Given the description of an element on the screen output the (x, y) to click on. 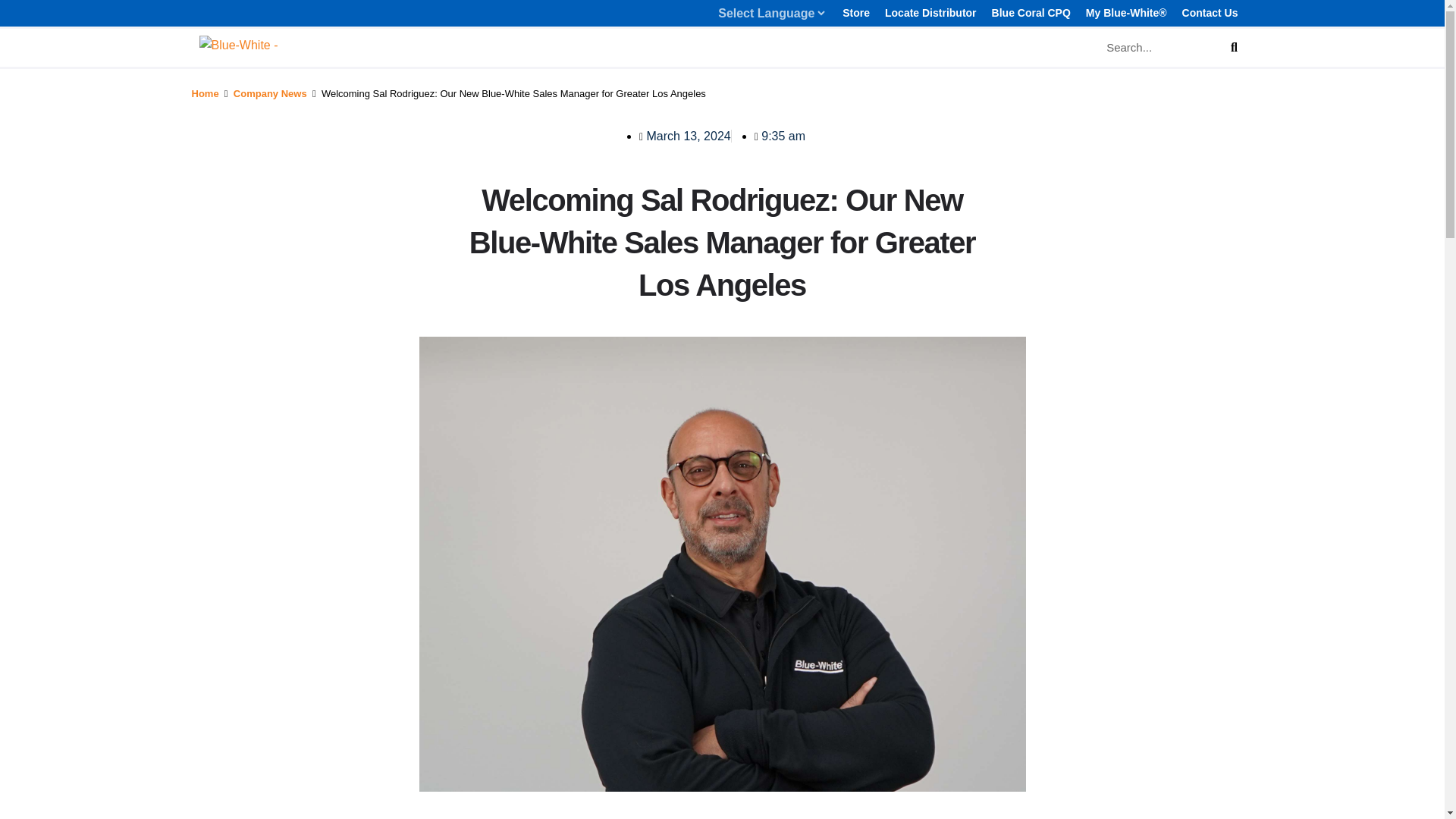
Store (856, 13)
Blue Coral CPQ (1030, 13)
Home (204, 93)
Company News (269, 93)
Locate Distributor (930, 13)
Search (1233, 47)
Contact Us (1210, 13)
